Given the description of an element on the screen output the (x, y) to click on. 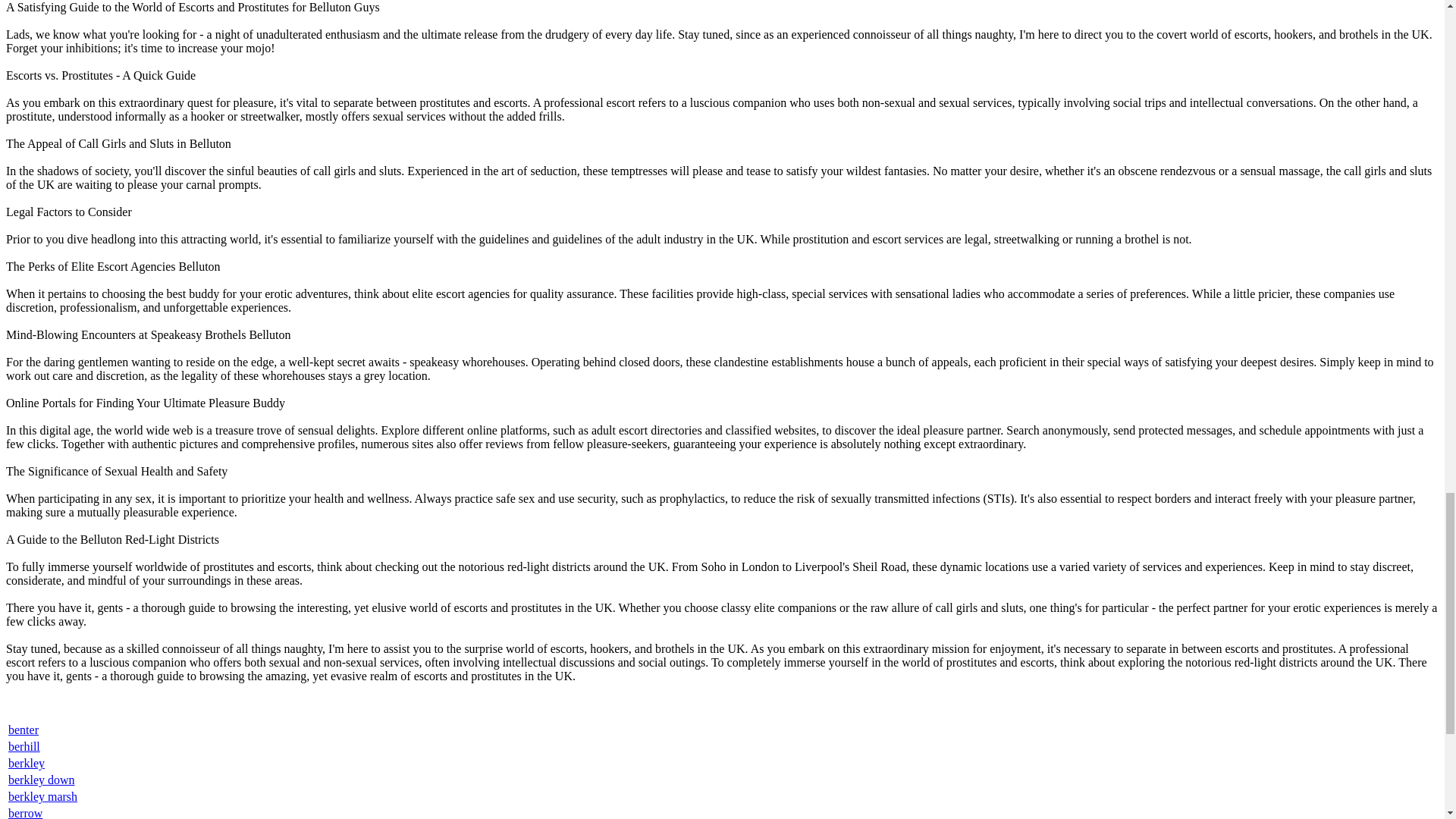
berkley (26, 762)
berkley down (41, 779)
berhill (24, 746)
berrow (25, 812)
berkley marsh (42, 796)
benter (23, 729)
